Given the description of an element on the screen output the (x, y) to click on. 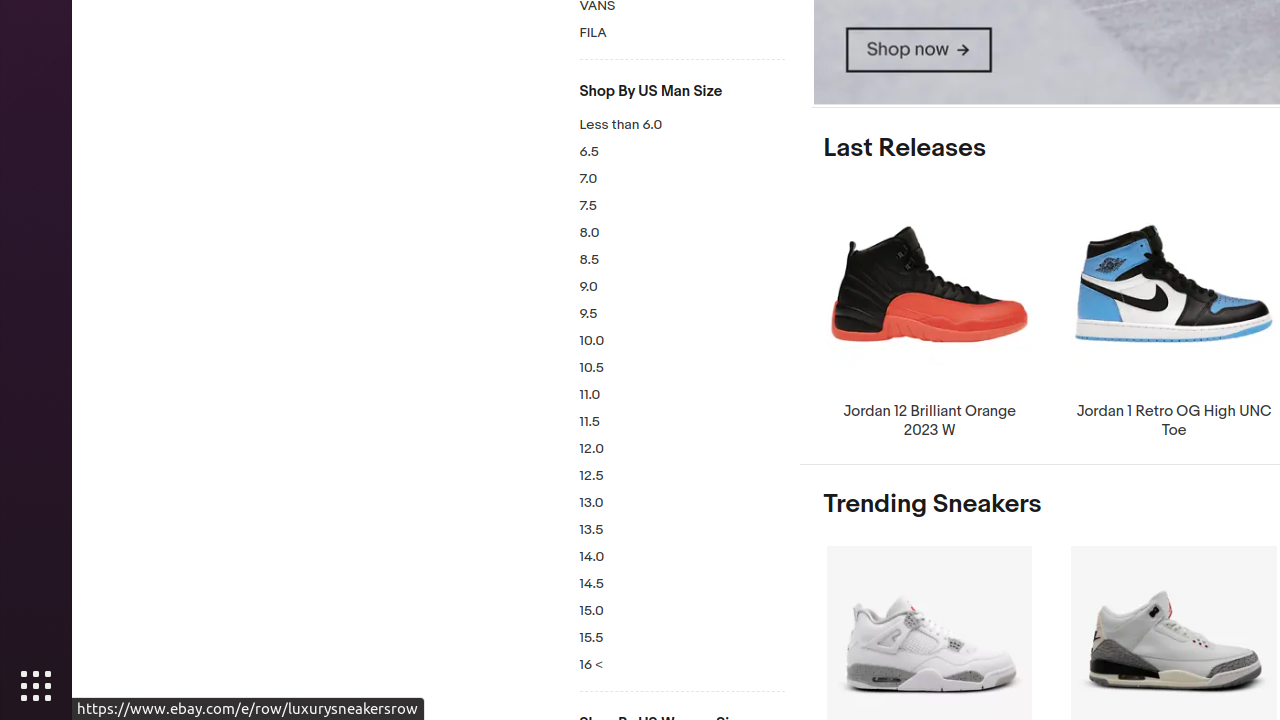
10.0 Element type: link (682, 341)
15.5 Element type: link (682, 638)
14.0 Element type: link (682, 557)
6.5 Element type: link (682, 152)
